Given the description of an element on the screen output the (x, y) to click on. 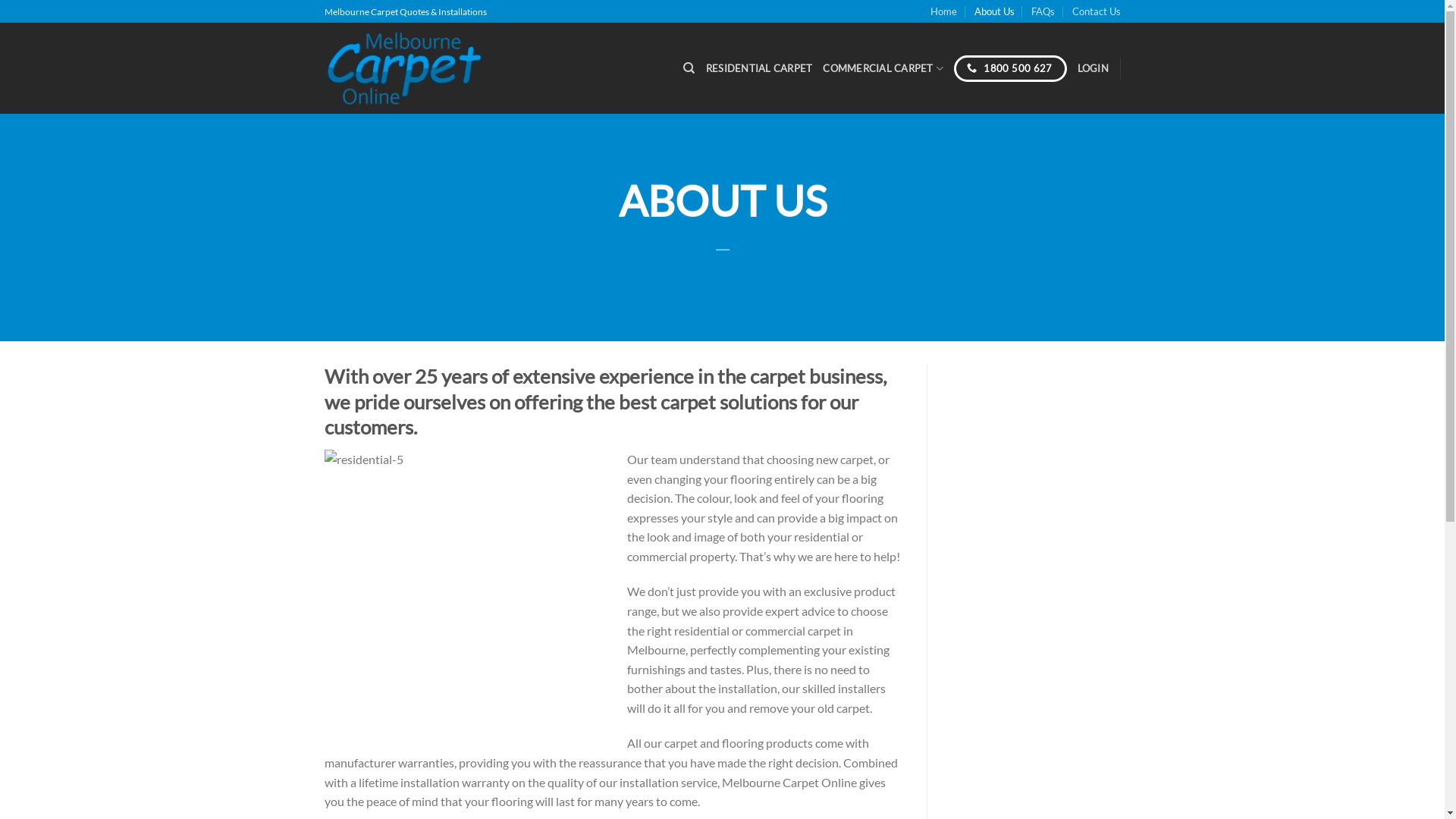
Home Element type: text (943, 11)
RESIDENTIAL CARPET Element type: text (759, 67)
COMMERCIAL CARPET Element type: text (882, 68)
FAQs Element type: text (1042, 11)
Contact Us Element type: text (1096, 11)
Melbourne Carpet Online - Best Carpet Quotes and Services Element type: hover (403, 68)
About Us Element type: text (994, 11)
1800 500 627 Element type: text (1009, 68)
LOGIN Element type: text (1092, 67)
